Given the description of an element on the screen output the (x, y) to click on. 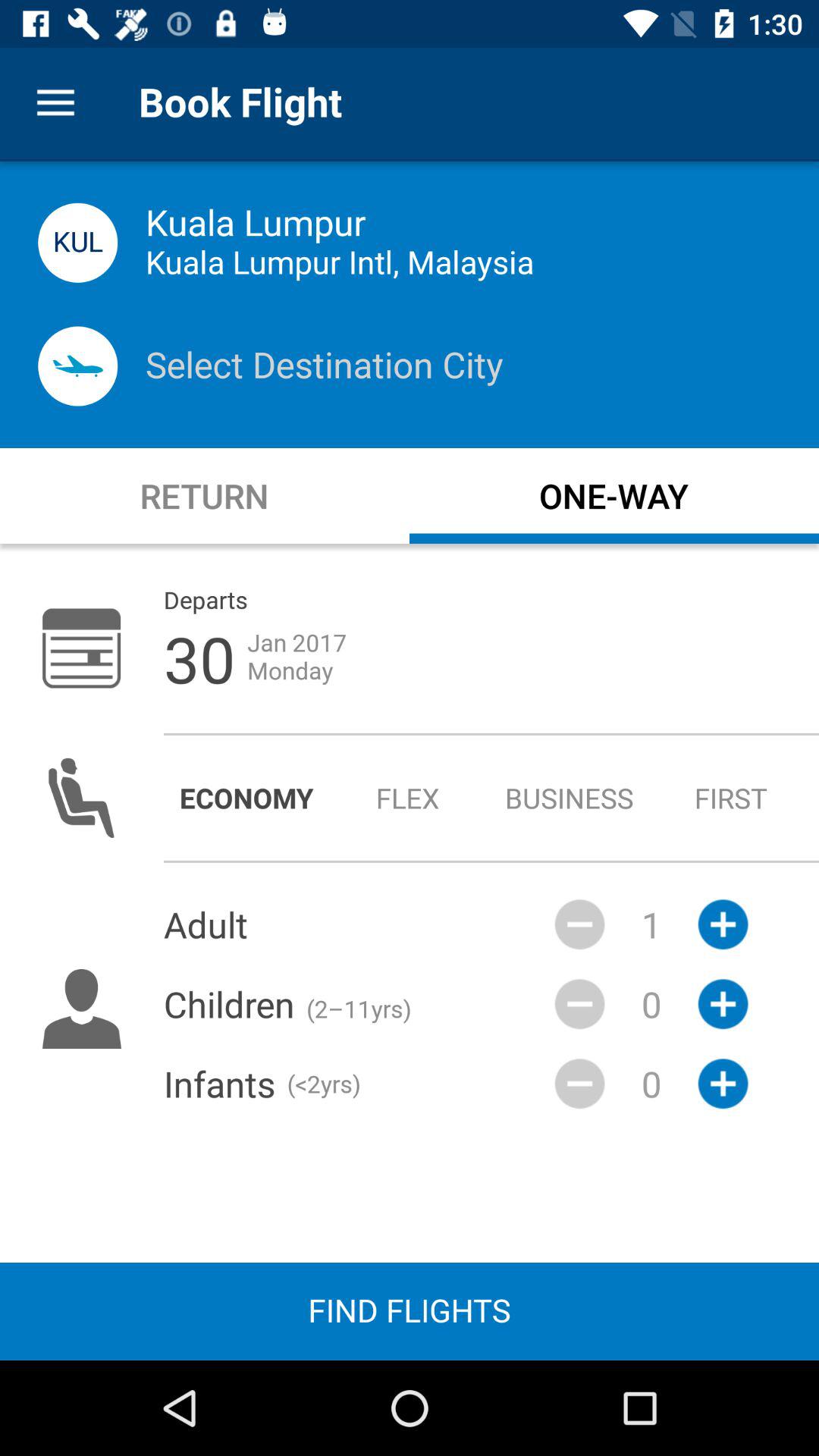
turn on the flex item (407, 797)
